Given the description of an element on the screen output the (x, y) to click on. 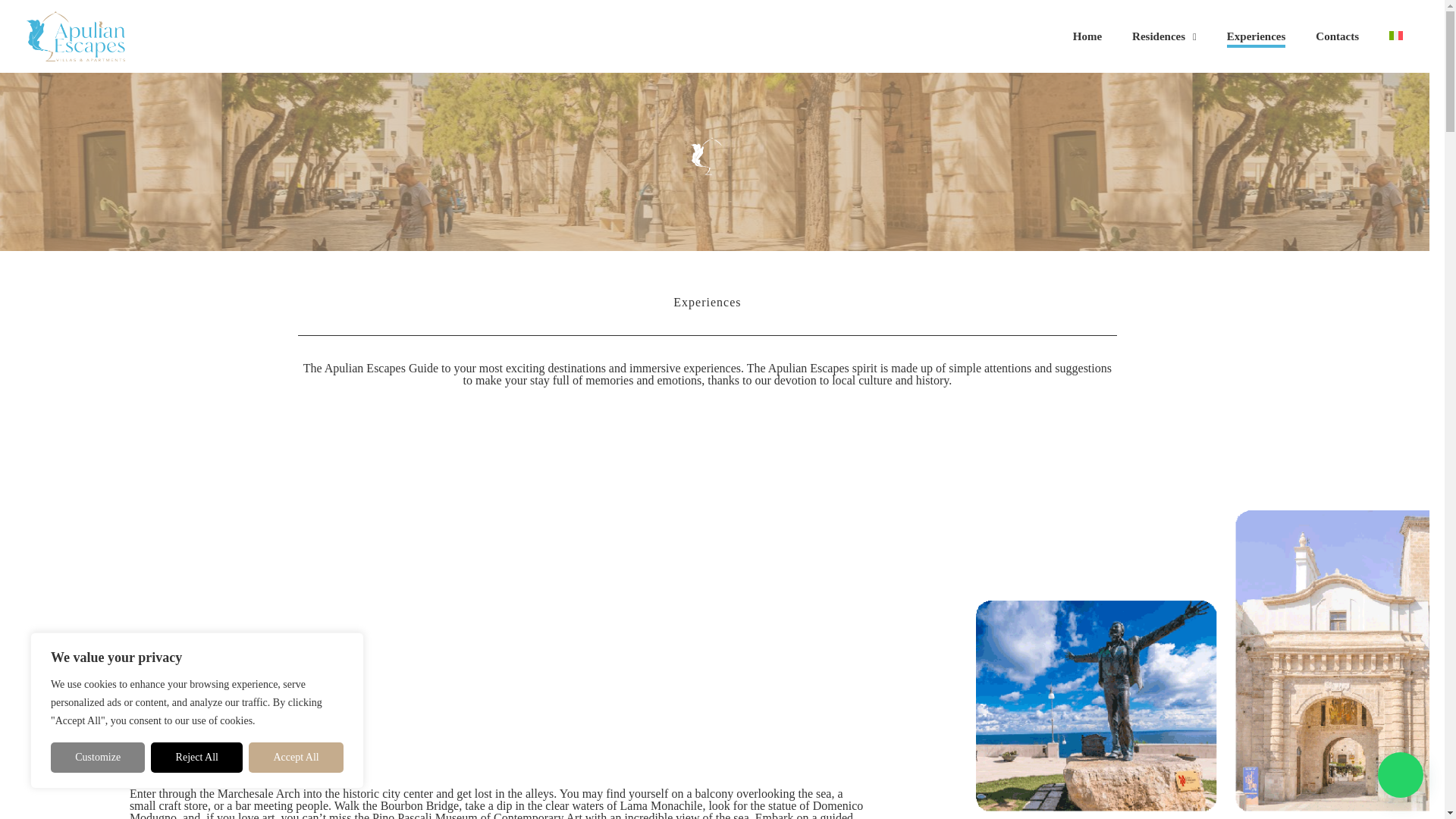
Home (1087, 36)
Experiences (1255, 36)
Residences (1163, 36)
Contacts (1337, 36)
Accept All (295, 757)
Reject All (197, 757)
Customize (97, 757)
